Given the description of an element on the screen output the (x, y) to click on. 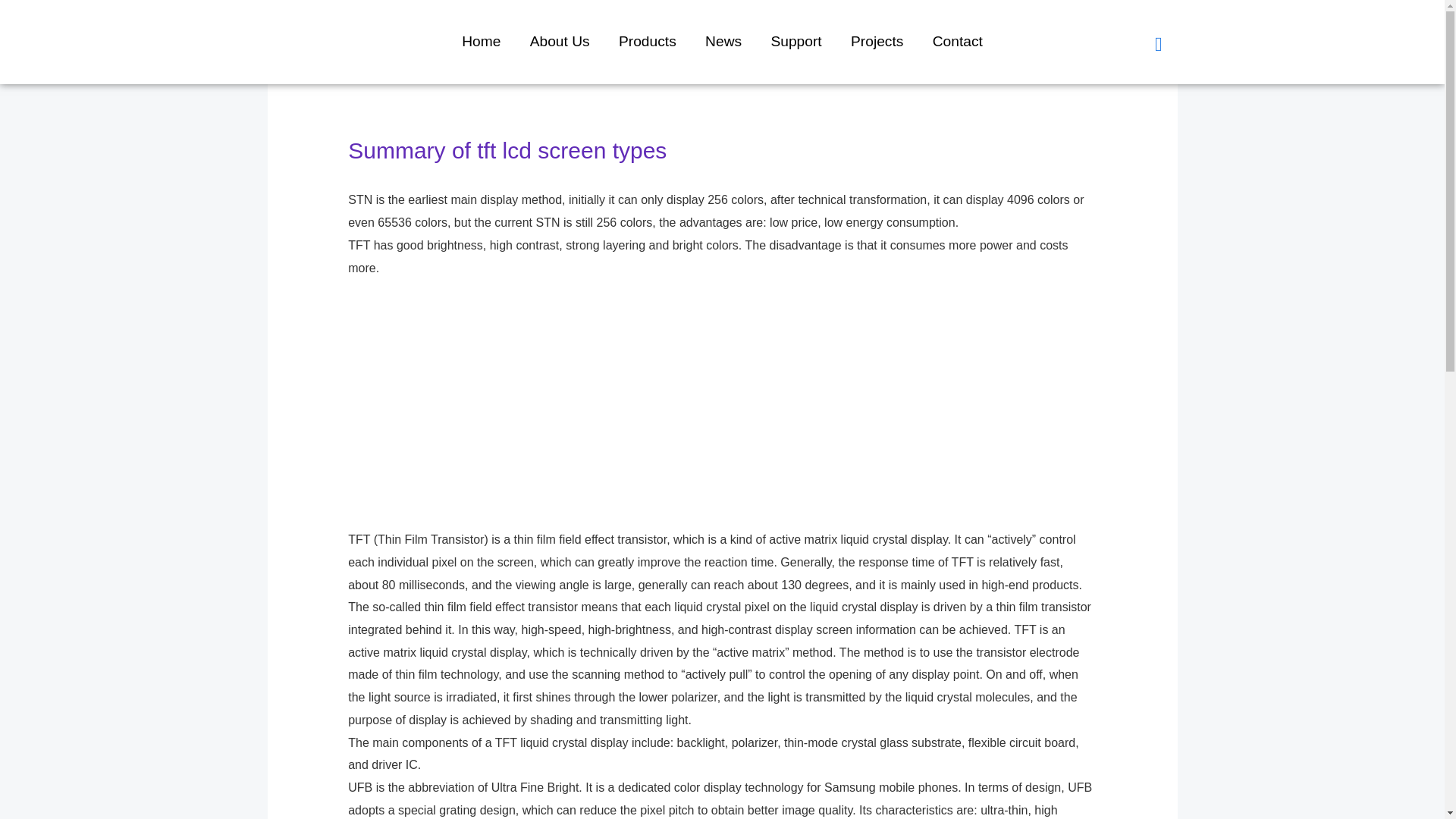
Contact (957, 41)
Support (795, 41)
Home (480, 41)
About Us (559, 41)
Projects (876, 41)
News (722, 41)
Products (647, 41)
